Given the description of an element on the screen output the (x, y) to click on. 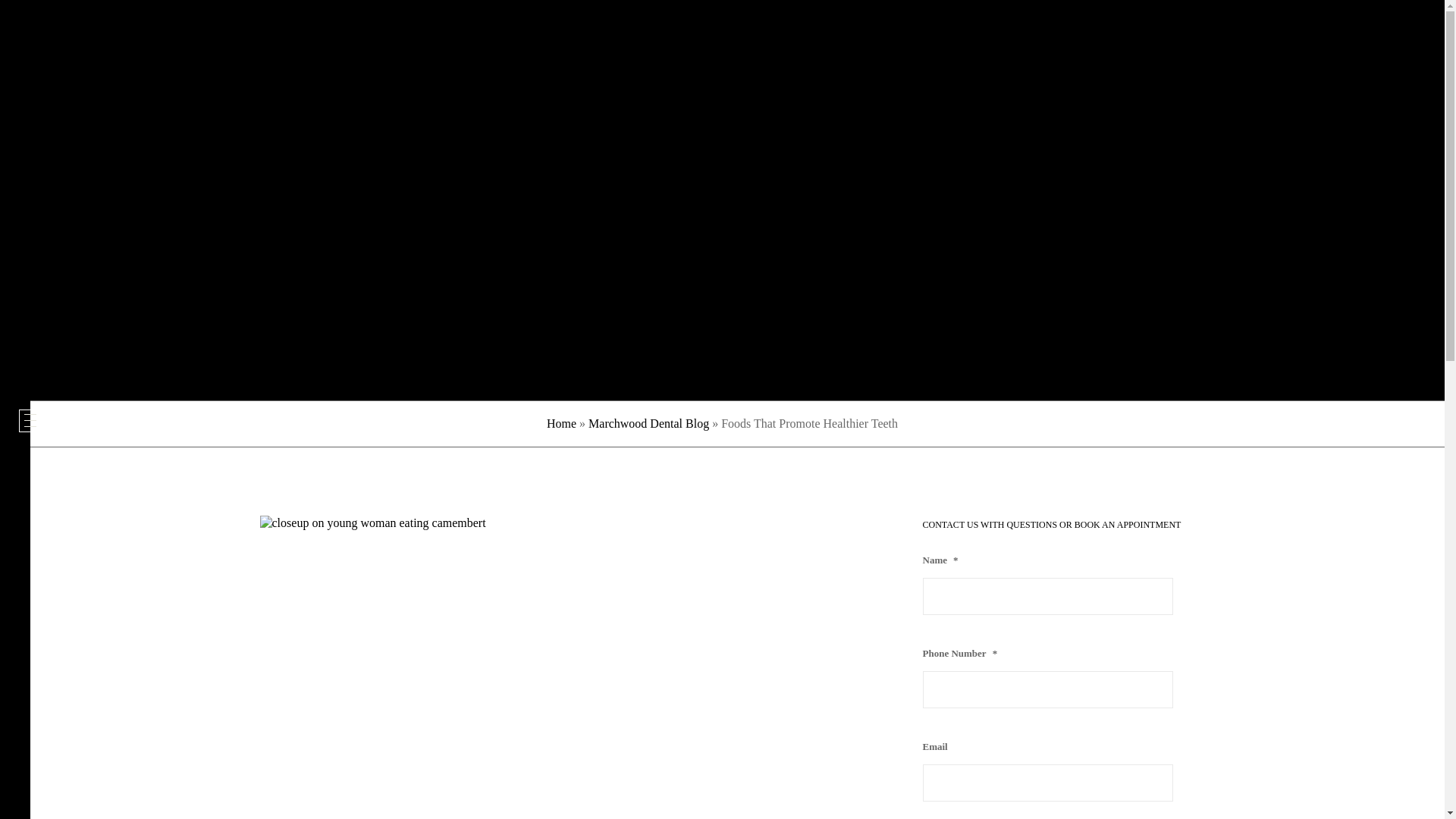
Marchwood Dental Blog (648, 422)
Home (561, 422)
